Given the description of an element on the screen output the (x, y) to click on. 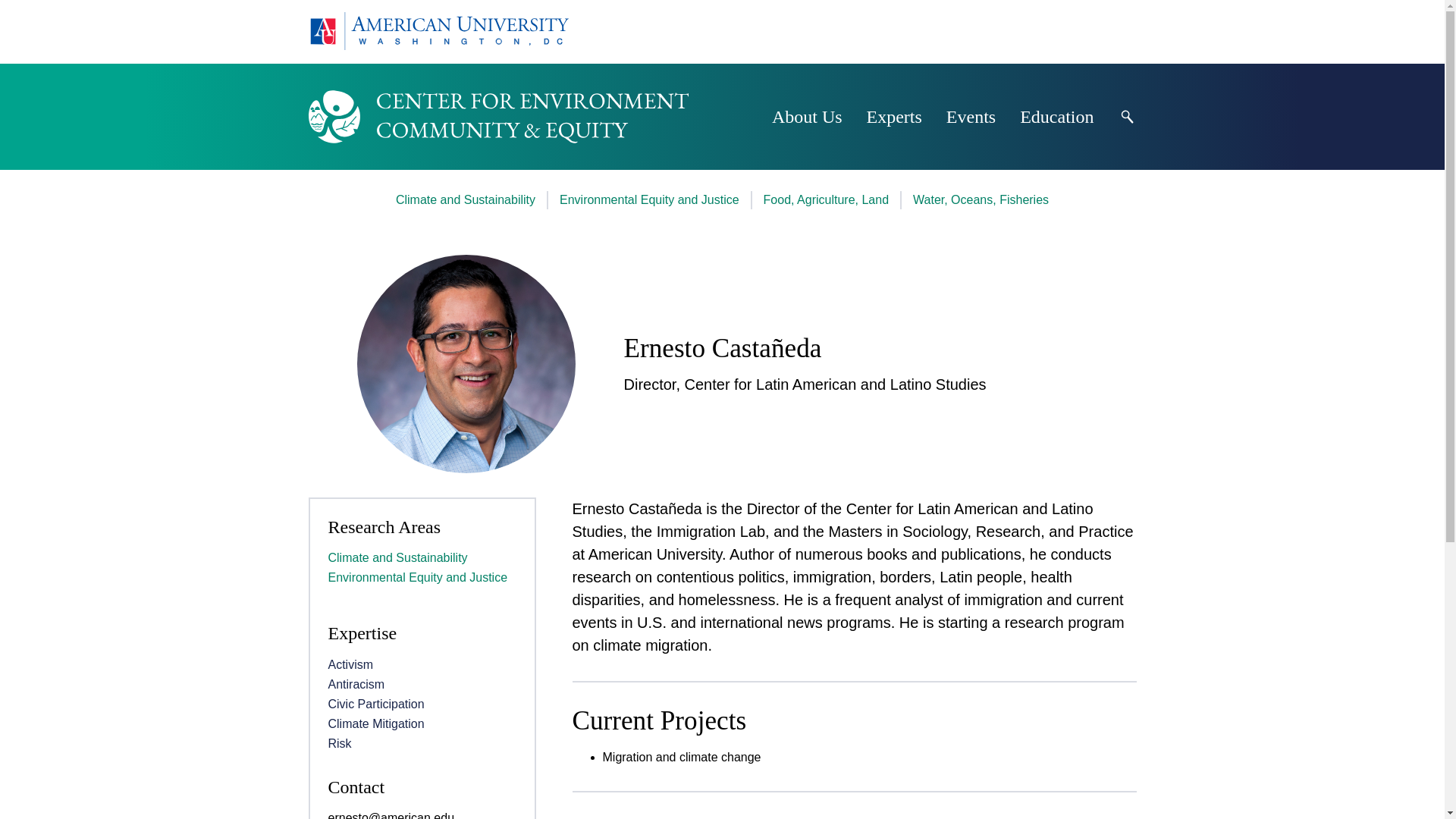
Climate Mitigation (375, 723)
Water, Oceans, Fisheries (980, 199)
About Us (807, 116)
Environmental Equity and Justice (649, 199)
Education (1056, 116)
Civic Participation (375, 703)
Events (970, 116)
Environmental Equity and Justice (416, 576)
HOMEPAGE (437, 31)
Activism (349, 664)
Climate and Sustainability (465, 199)
Risk (338, 743)
Climate and Sustainability (397, 557)
Food, Agriculture, Land (825, 199)
Antiracism (355, 684)
